Given the description of an element on the screen output the (x, y) to click on. 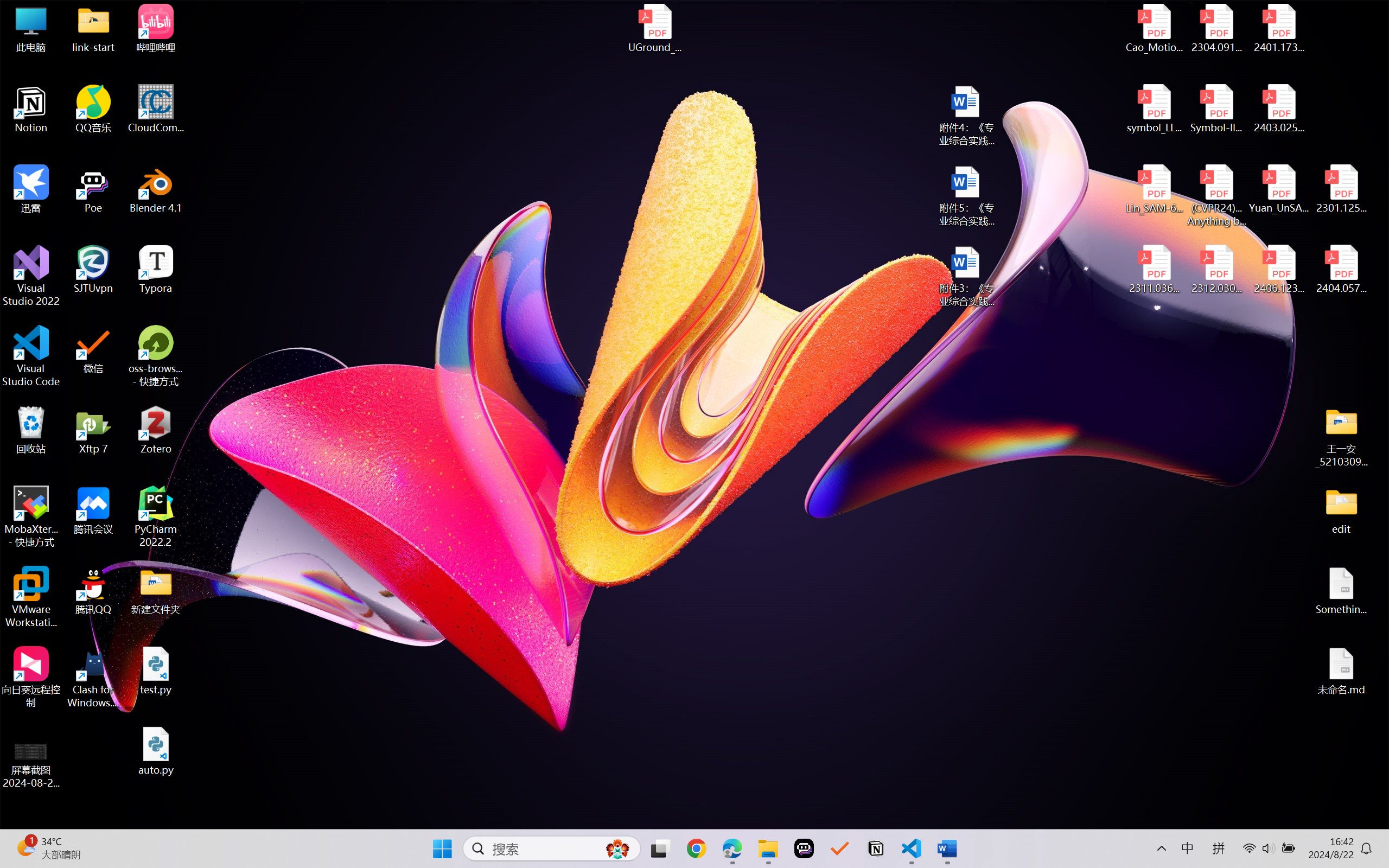
PyCharm 2022.2 (156, 516)
symbol_LLM.pdf (1154, 109)
VMware Workstation Pro (31, 597)
Blender 4.1 (156, 189)
2406.12373v2.pdf (1278, 269)
(CVPR24)Matching Anything by Segmenting Anything.pdf (1216, 195)
